Given the description of an element on the screen output the (x, y) to click on. 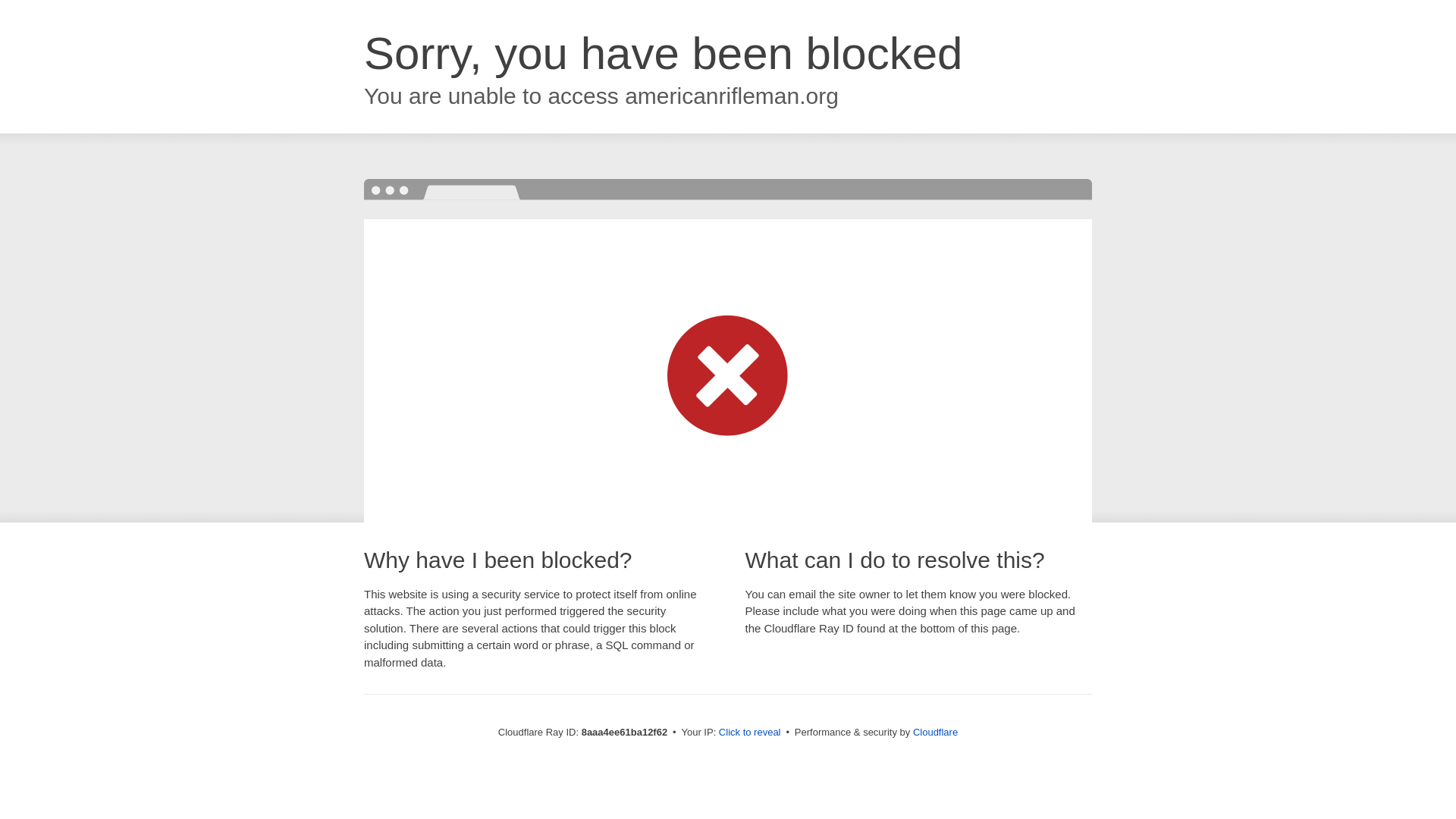
Click to reveal (749, 732)
Cloudflare (935, 731)
